Given the description of an element on the screen output the (x, y) to click on. 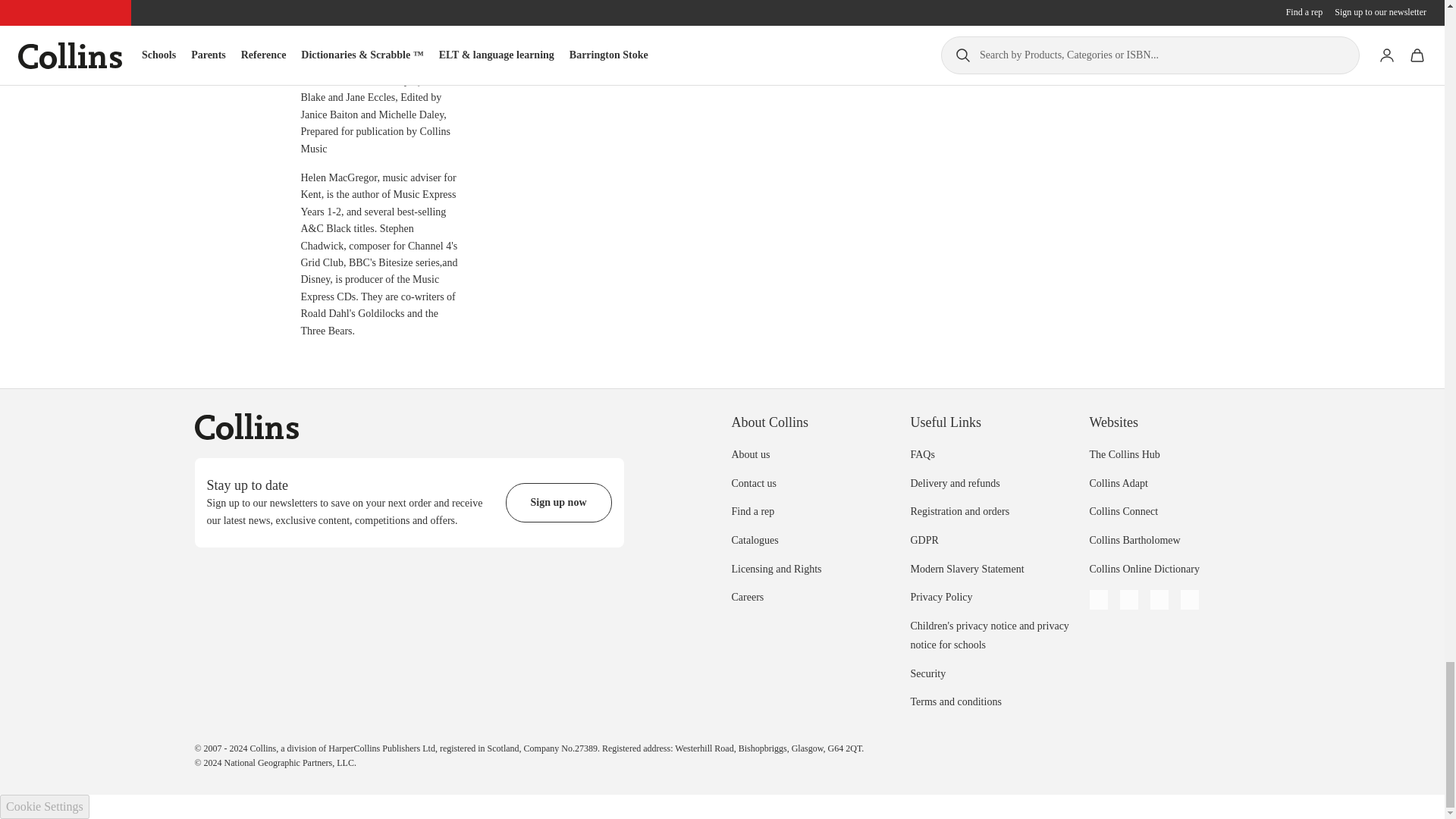
Children's privacy notice and privacy notice for schools (989, 635)
Contact us (753, 482)
Modern Slavery Statement (966, 568)
Careers (746, 596)
Terms and conditions (955, 701)
Catalogues (753, 540)
Licensing and Rights (775, 568)
FAQs (922, 454)
Sign up now (558, 502)
Registration and orders (959, 511)
